Given the description of an element on the screen output the (x, y) to click on. 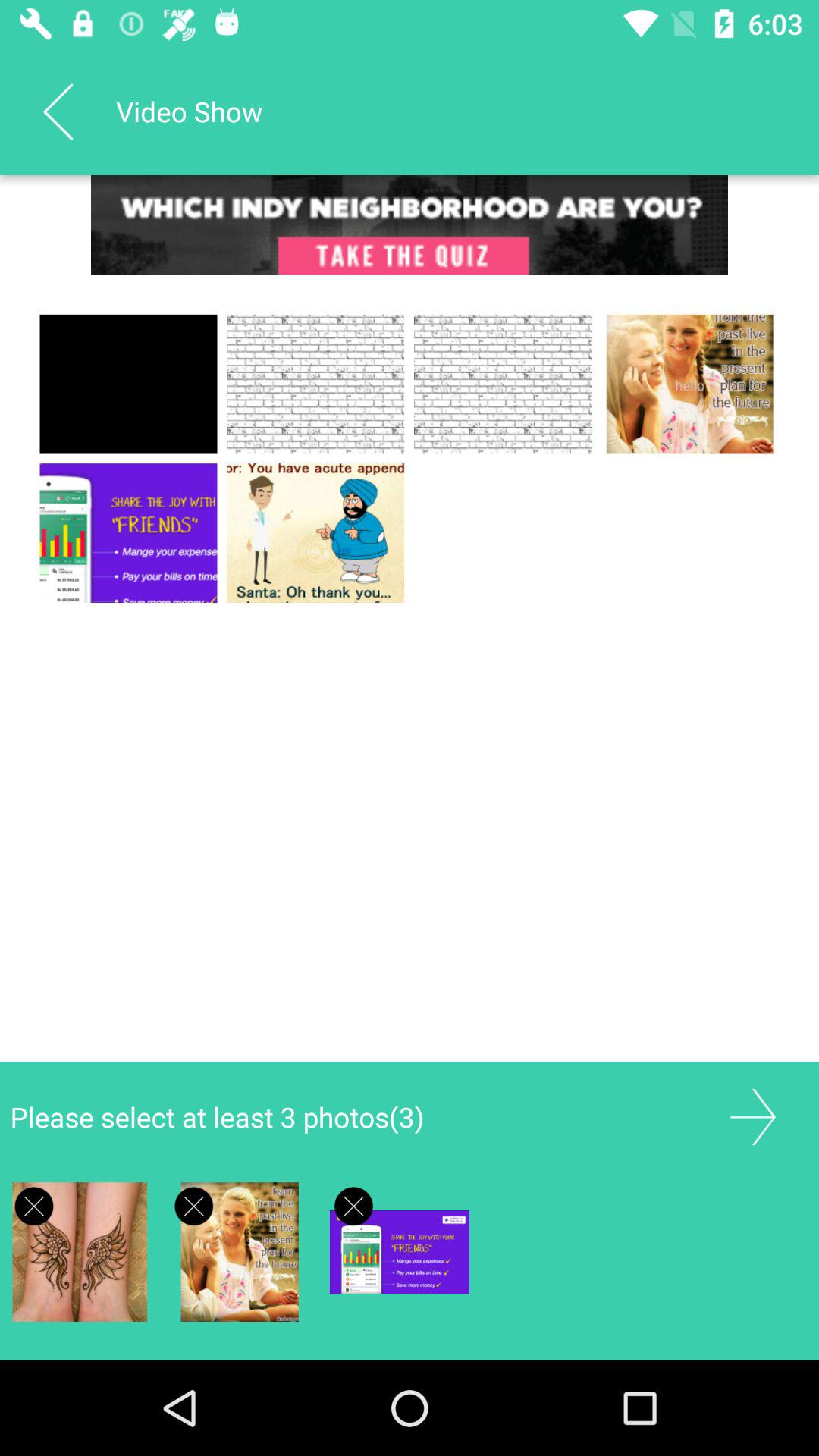
go next (752, 1116)
